Given the description of an element on the screen output the (x, y) to click on. 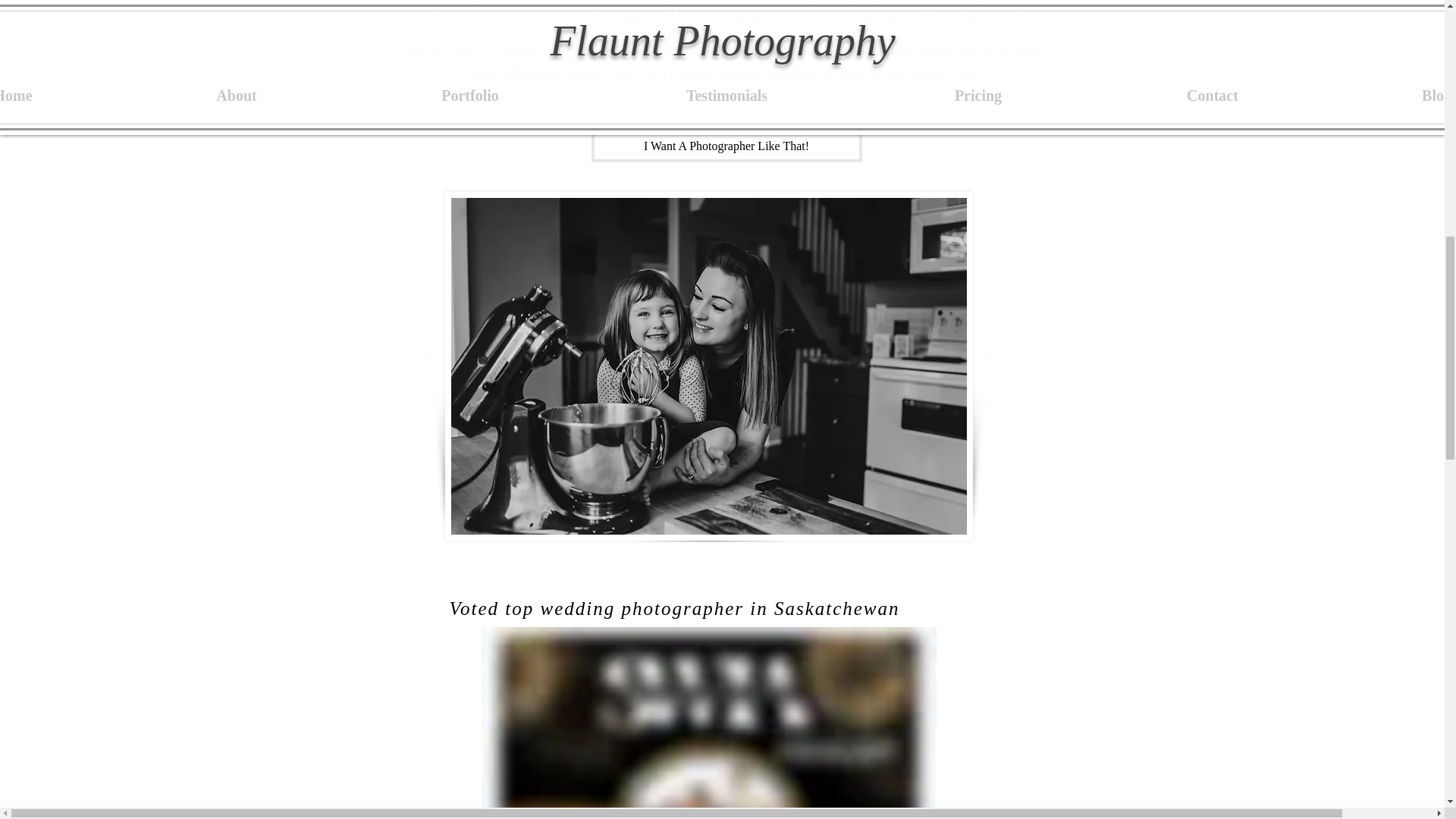
1000011097.jpg (708, 722)
I Want A Photographer Like That! (726, 146)
